Given the description of an element on the screen output the (x, y) to click on. 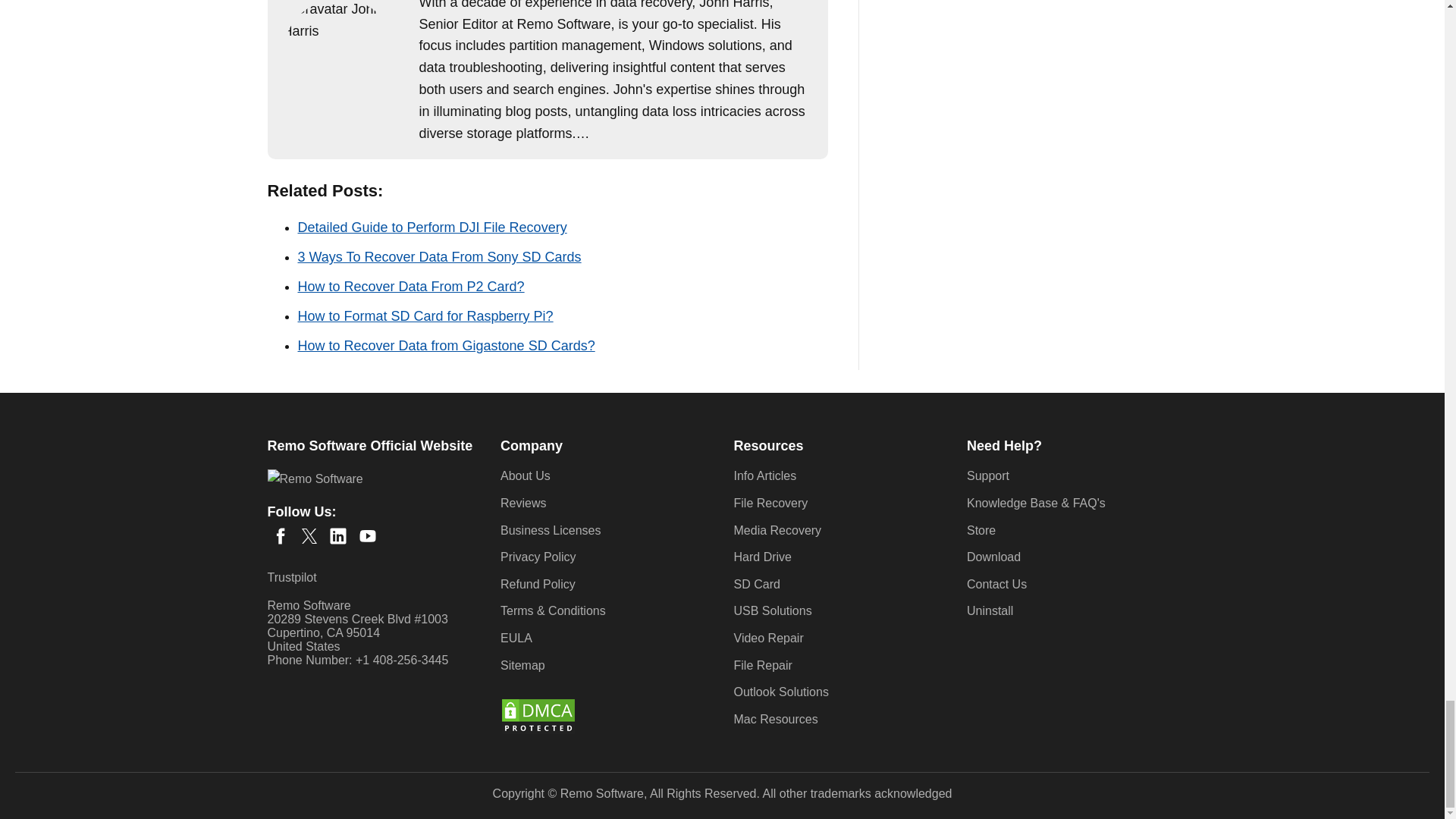
DMCA.com Protection Status (538, 730)
3 Ways To Recover Data From Sony SD Cards (438, 256)
Detailed Guide to Perform DJI File Recovery (431, 227)
How to Format SD Card for Raspberry Pi? (425, 315)
How to Recover Data From P2 Card? (410, 286)
How to Format SD Card for Raspberry Pi? (425, 315)
How to Recover Data from Gigastone SD Cards? (445, 345)
How to Recover Data from Gigastone SD Cards? (445, 345)
3 Ways To Recover Data From Sony SD Cards (438, 256)
Detailed Guide to Perform DJI File Recovery (431, 227)
How to Recover Data From P2 Card? (410, 286)
